Given the description of an element on the screen output the (x, y) to click on. 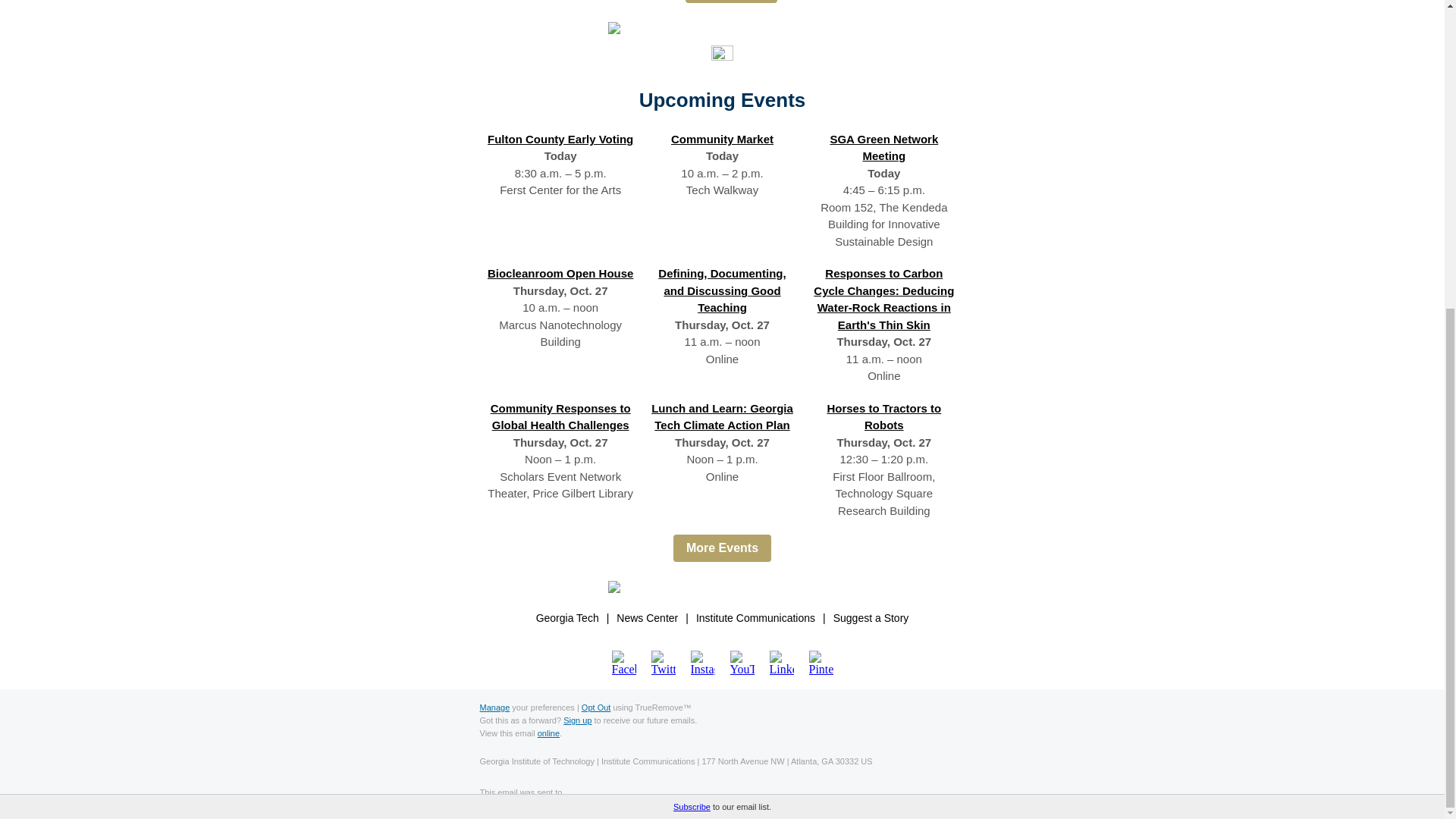
Lunch and Learn: Georgia Tech Climate Action Plan (721, 417)
Fulton County Early Voting (560, 138)
Institute Communications (755, 618)
Horses to Tractors to Robots (883, 417)
online (548, 732)
More Events (721, 547)
News Center (646, 618)
Full Update (731, 1)
Subscribe (691, 317)
Sign up (577, 719)
Community Market (722, 138)
Opt Out (595, 706)
Suggest a Story (871, 618)
Manage (494, 706)
Instagram (702, 662)
